Given the description of an element on the screen output the (x, y) to click on. 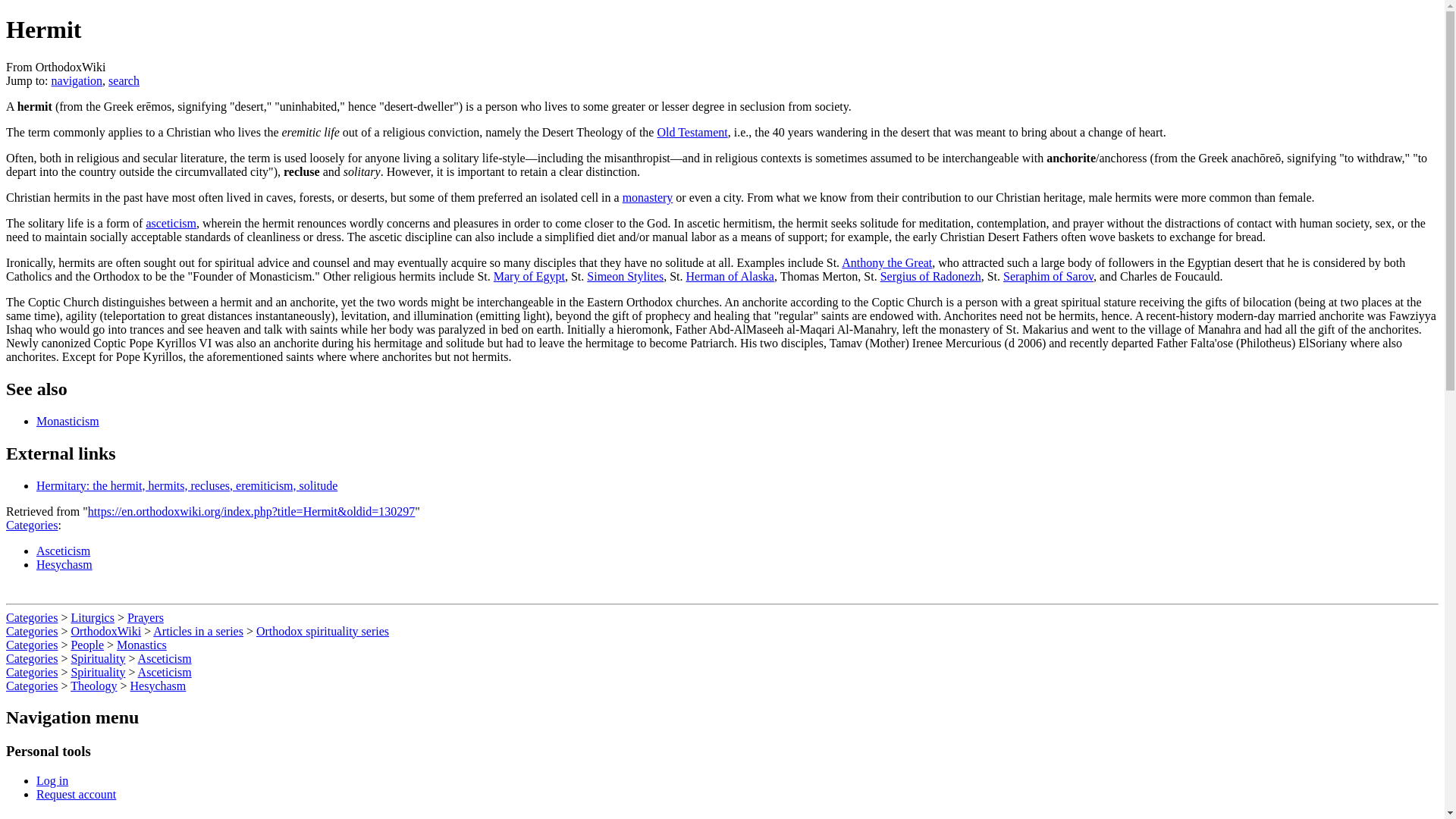
Old Testament (691, 132)
Categories (31, 644)
Category:Asceticism (63, 550)
Old Testament (691, 132)
Spirituality (97, 671)
Special:Categories (31, 524)
Categories (31, 524)
Category:OrthodoxWiki (105, 631)
Monasticism (67, 420)
Asceticism (165, 658)
Simeon Stylites (624, 276)
Spirituality (97, 658)
Anthony the Great (886, 262)
Categories (31, 631)
Symeon the Stylite (624, 276)
